Given the description of an element on the screen output the (x, y) to click on. 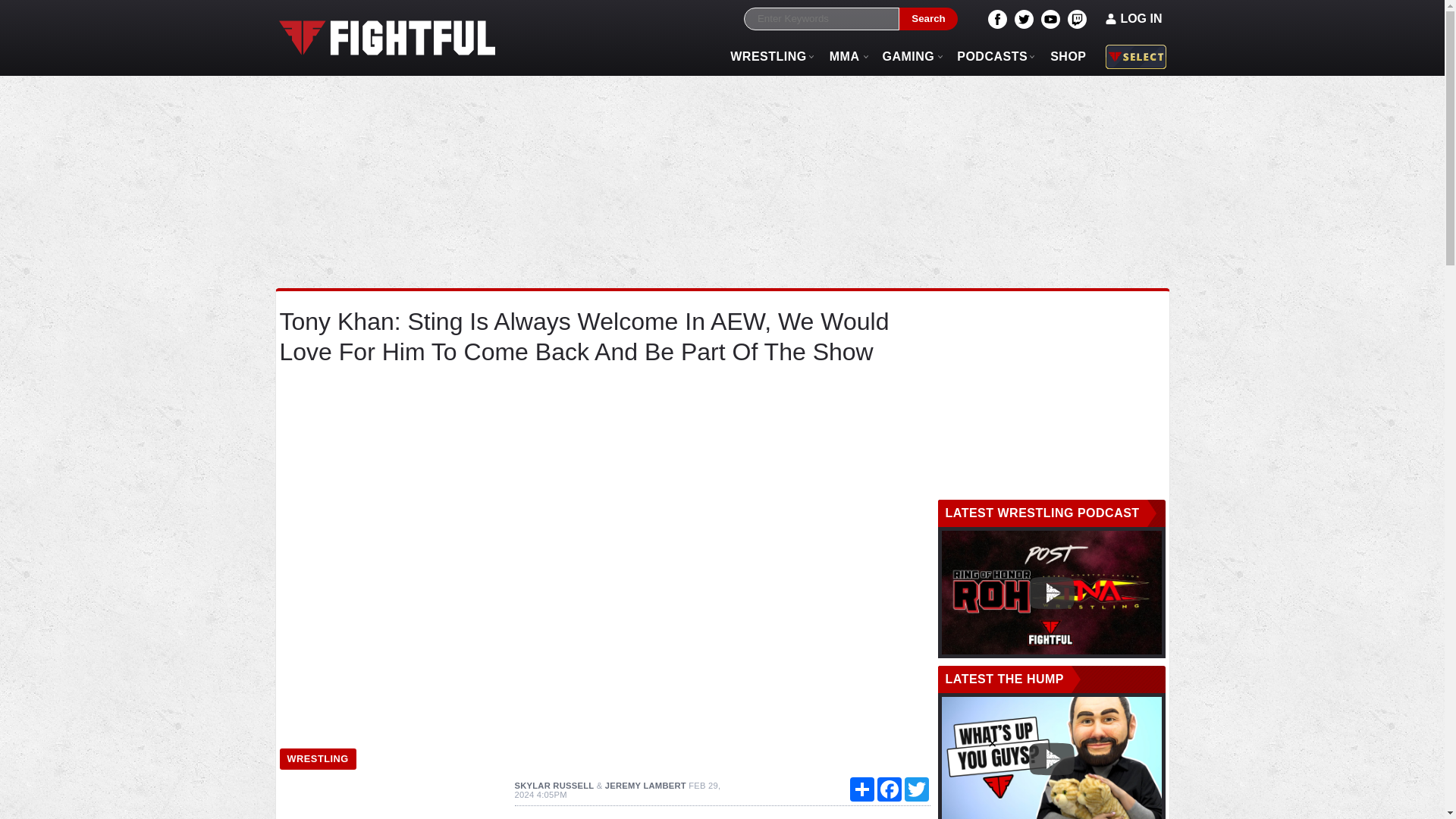
GAMING (907, 56)
WRESTLING (768, 56)
Search (928, 19)
MMA (844, 56)
WRESTLING (317, 759)
PODCASTS (991, 56)
SHOP (1068, 56)
LOG IN (1134, 18)
